Given the description of an element on the screen output the (x, y) to click on. 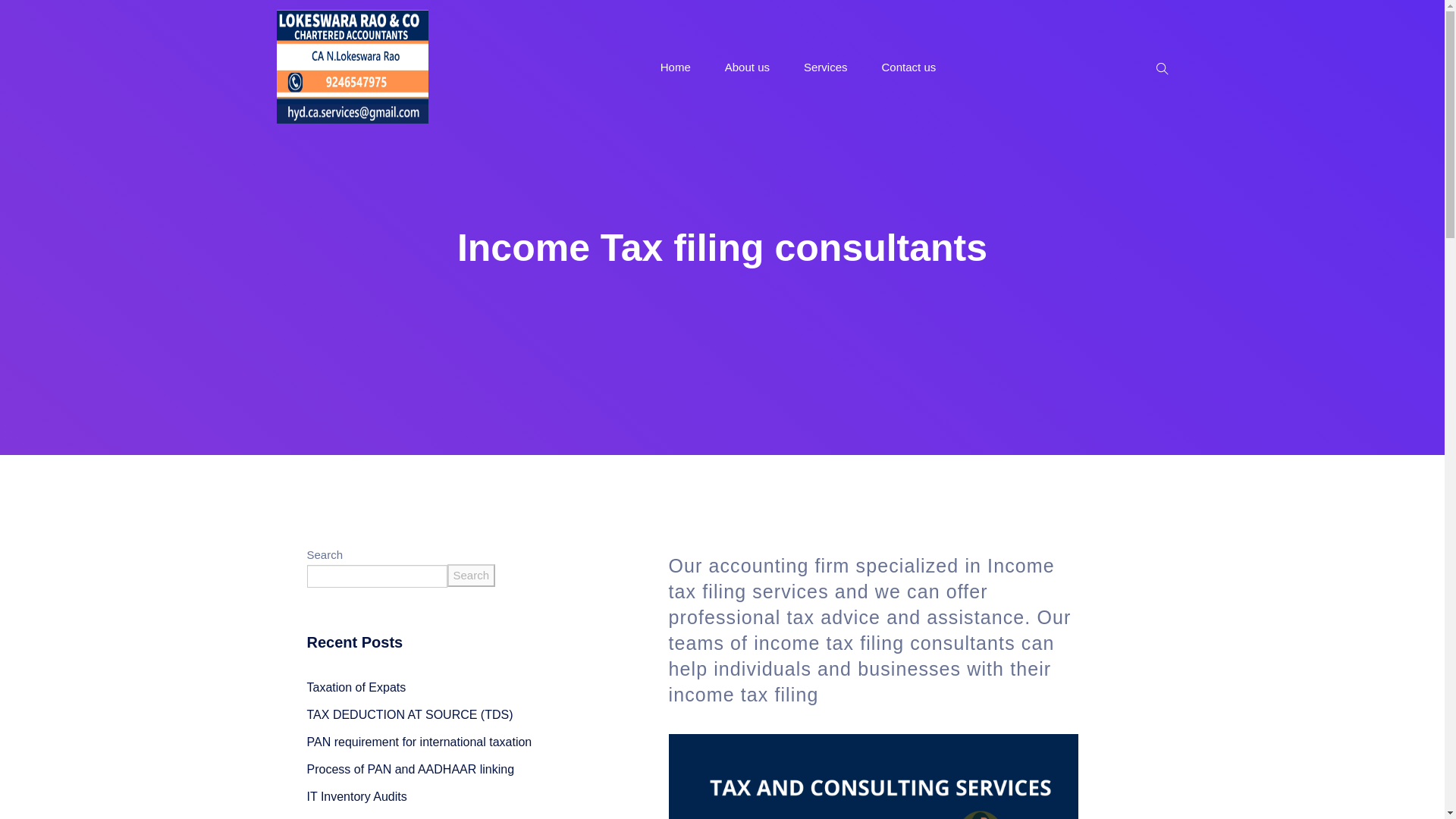
Process of PAN and AADHAAR linking (409, 768)
Search (471, 575)
PAN requirement for international taxation (418, 741)
Taxation of Expats (355, 686)
About us (747, 66)
Contact us (909, 66)
Home (675, 66)
Services (825, 66)
IT Inventory Audits (355, 796)
Income tax filing services (861, 578)
